Given the description of an element on the screen output the (x, y) to click on. 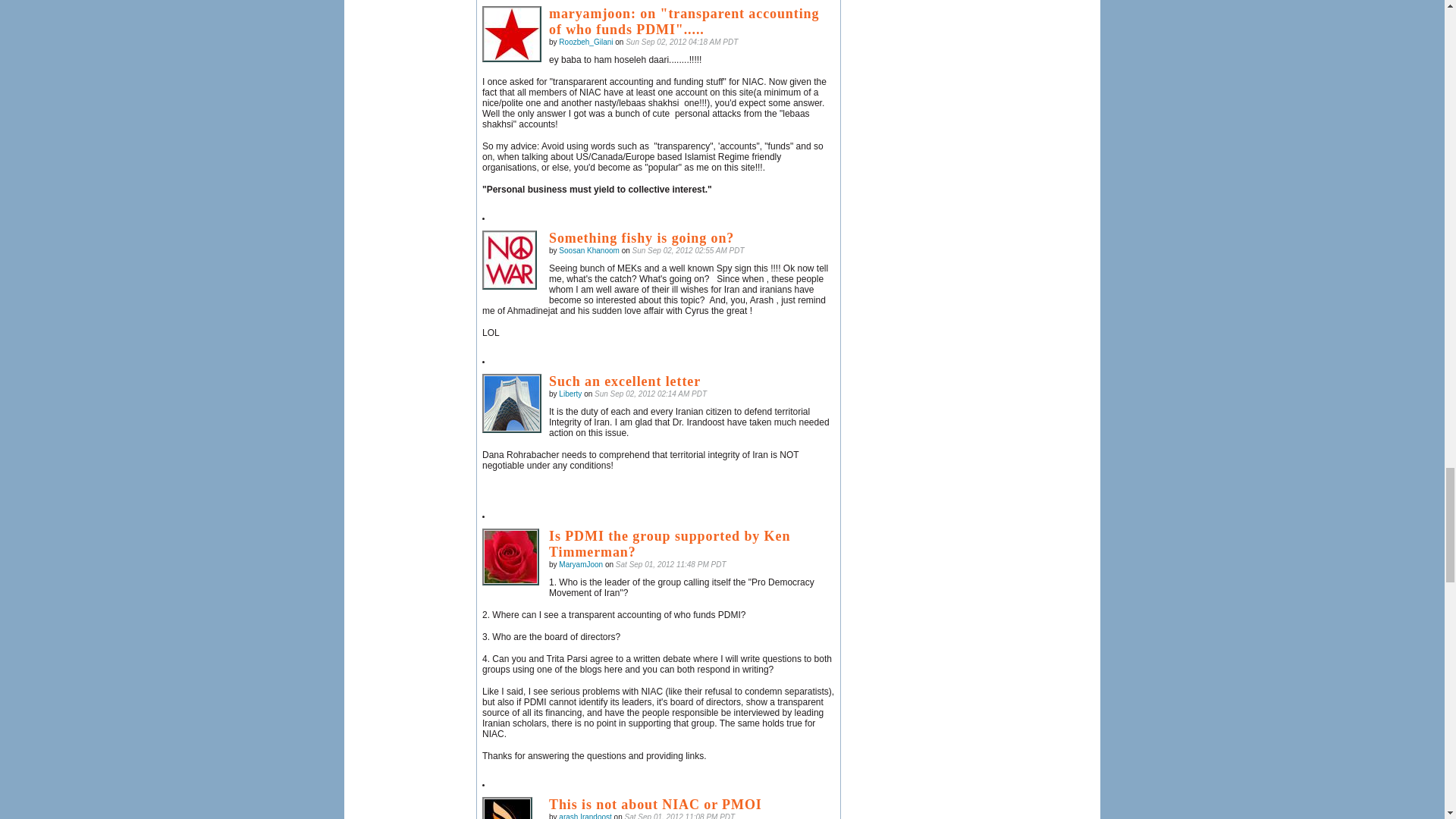
Liberty (511, 403)
View user profile. (589, 250)
View user profile. (585, 41)
View user profile. (569, 393)
Soosan Khanoom (509, 259)
MaryamJoon (509, 556)
